Given the description of an element on the screen output the (x, y) to click on. 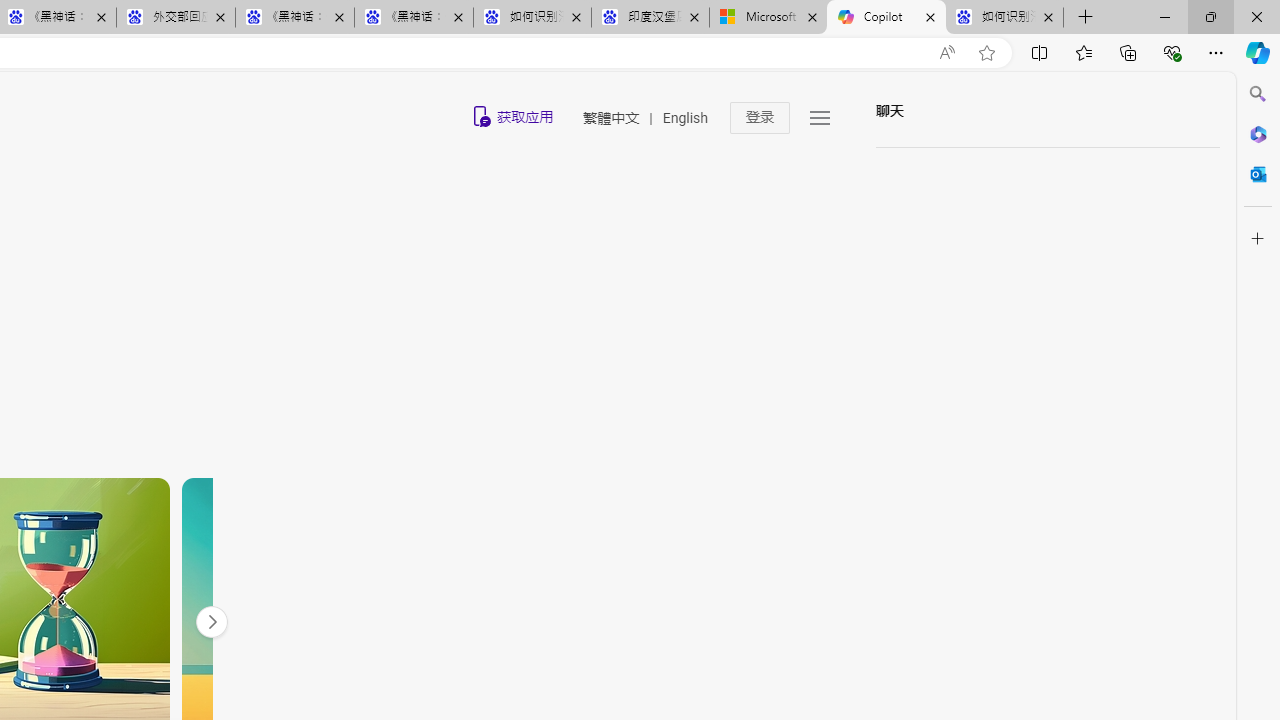
Copilot (886, 17)
